Given the description of an element on the screen output the (x, y) to click on. 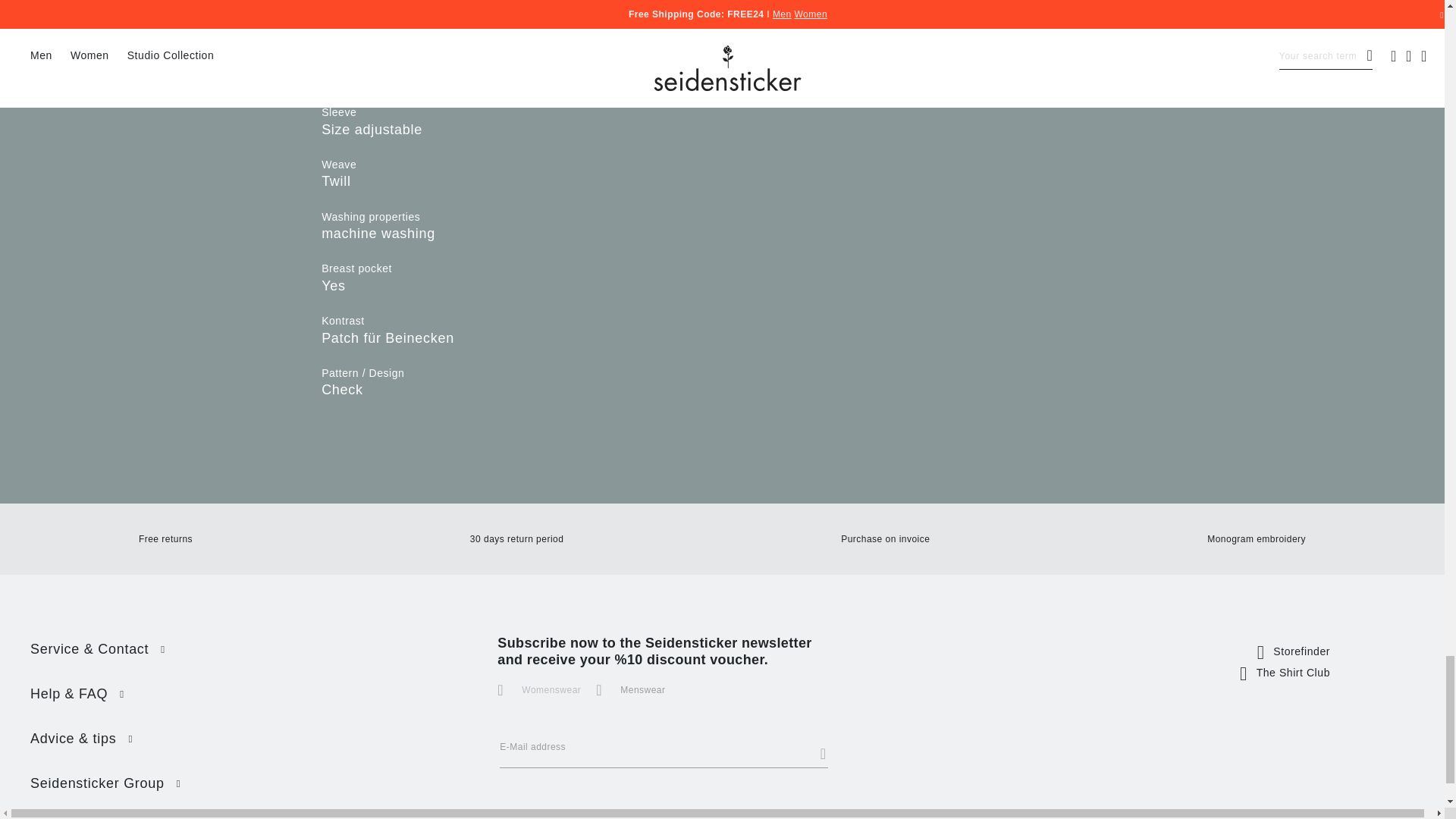
men (600, 684)
women (501, 684)
